Given the description of an element on the screen output the (x, y) to click on. 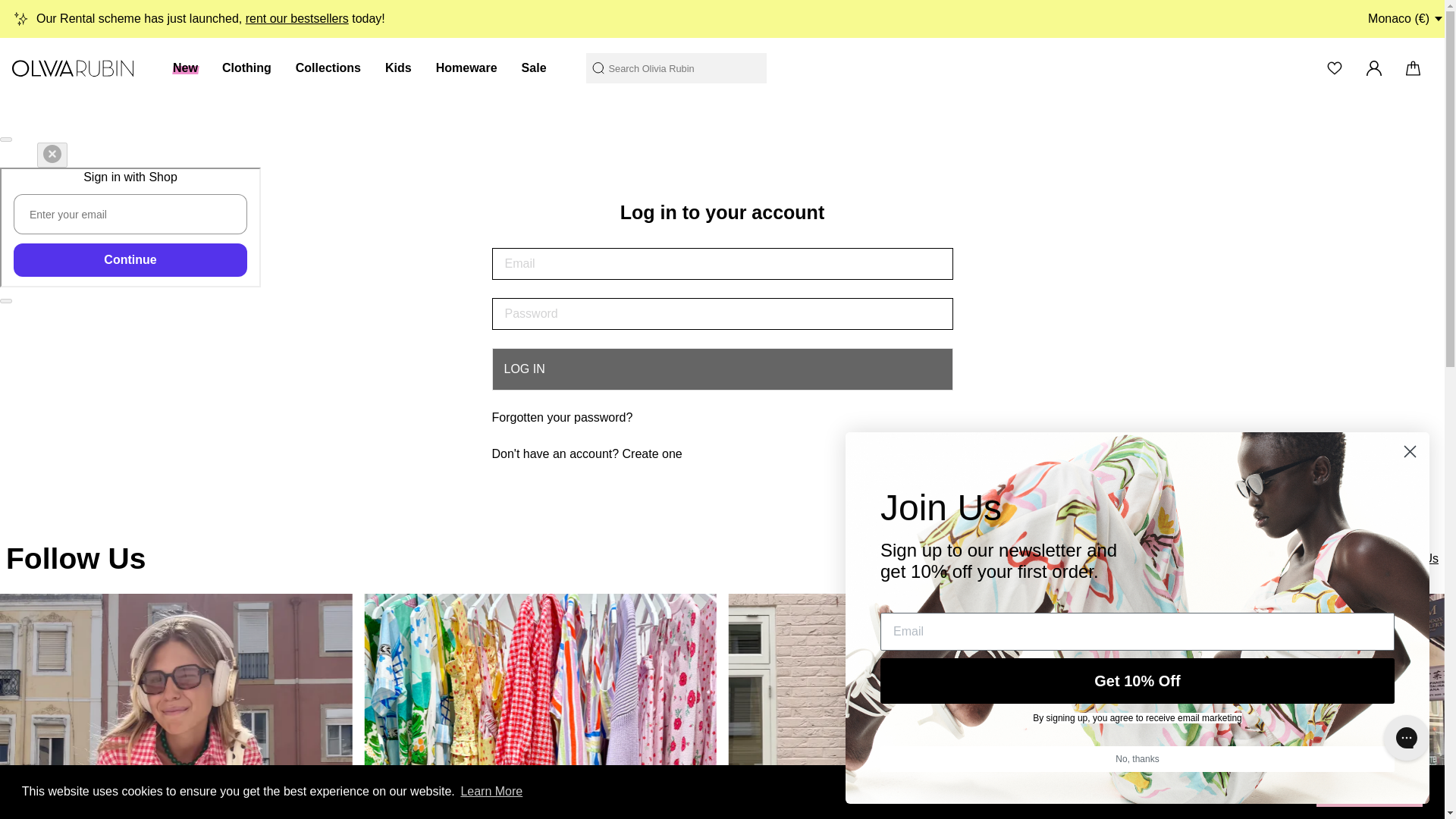
Learn More (491, 791)
rent our bestsellers (297, 18)
Gorgias live chat messenger (1406, 737)
Close dialog 2 (1409, 451)
Log In (722, 369)
Got it! (1369, 791)
